Given the description of an element on the screen output the (x, y) to click on. 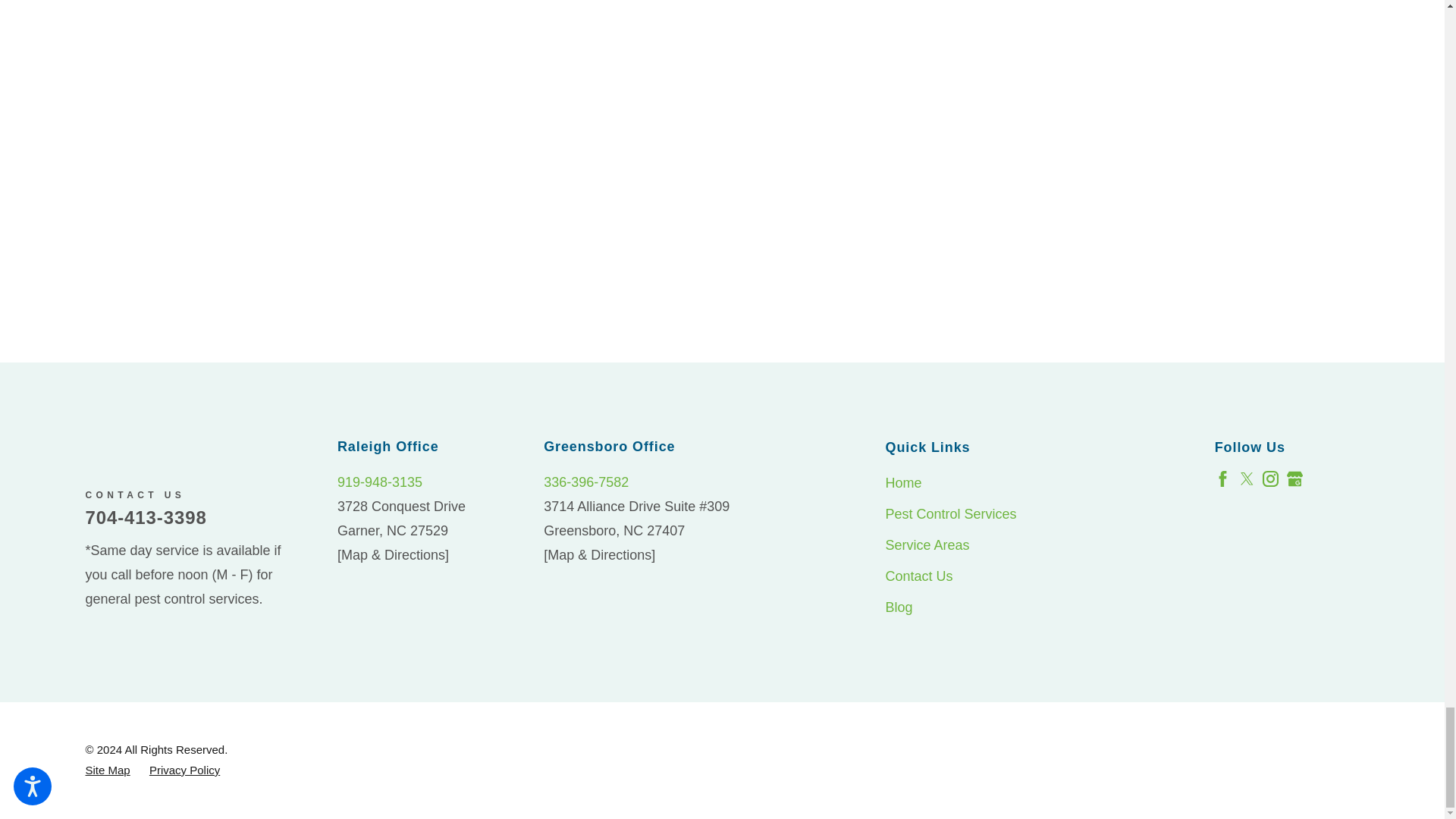
Twitter (1247, 478)
Instagram (1270, 478)
Facebook (1222, 478)
